Given the description of an element on the screen output the (x, y) to click on. 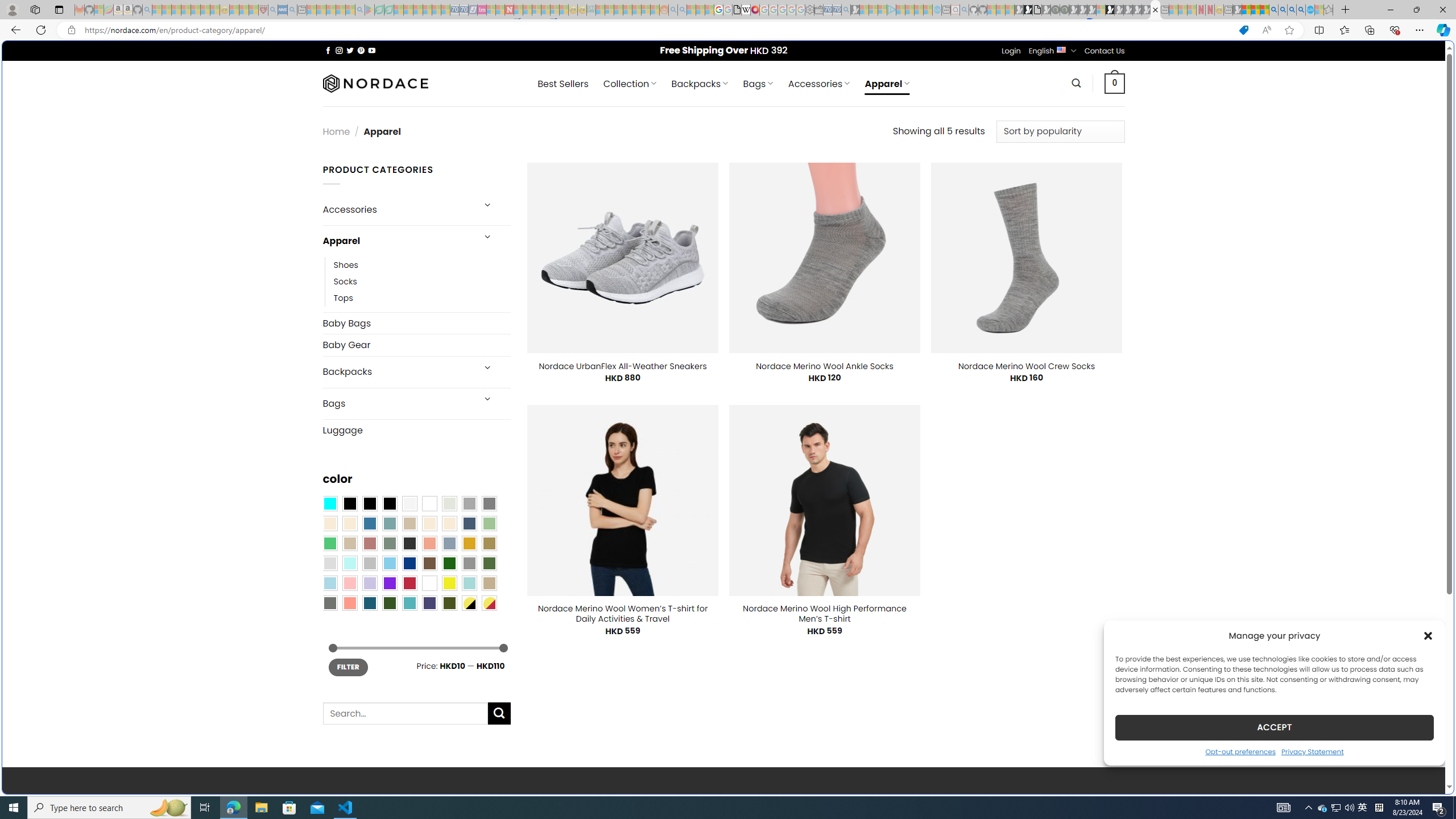
Sage (389, 542)
Hale Navy (468, 522)
2009 Bing officially replaced Live Search on June 3 - Search (1283, 9)
Bags (397, 403)
Search or enter web address (922, 108)
DITOGAMES AG Imprint - Sleeping (590, 9)
Search for: (404, 712)
google - Search - Sleeping (359, 9)
Capri Blue (369, 602)
Kelp (488, 542)
Gold (468, 542)
